Given the description of an element on the screen output the (x, y) to click on. 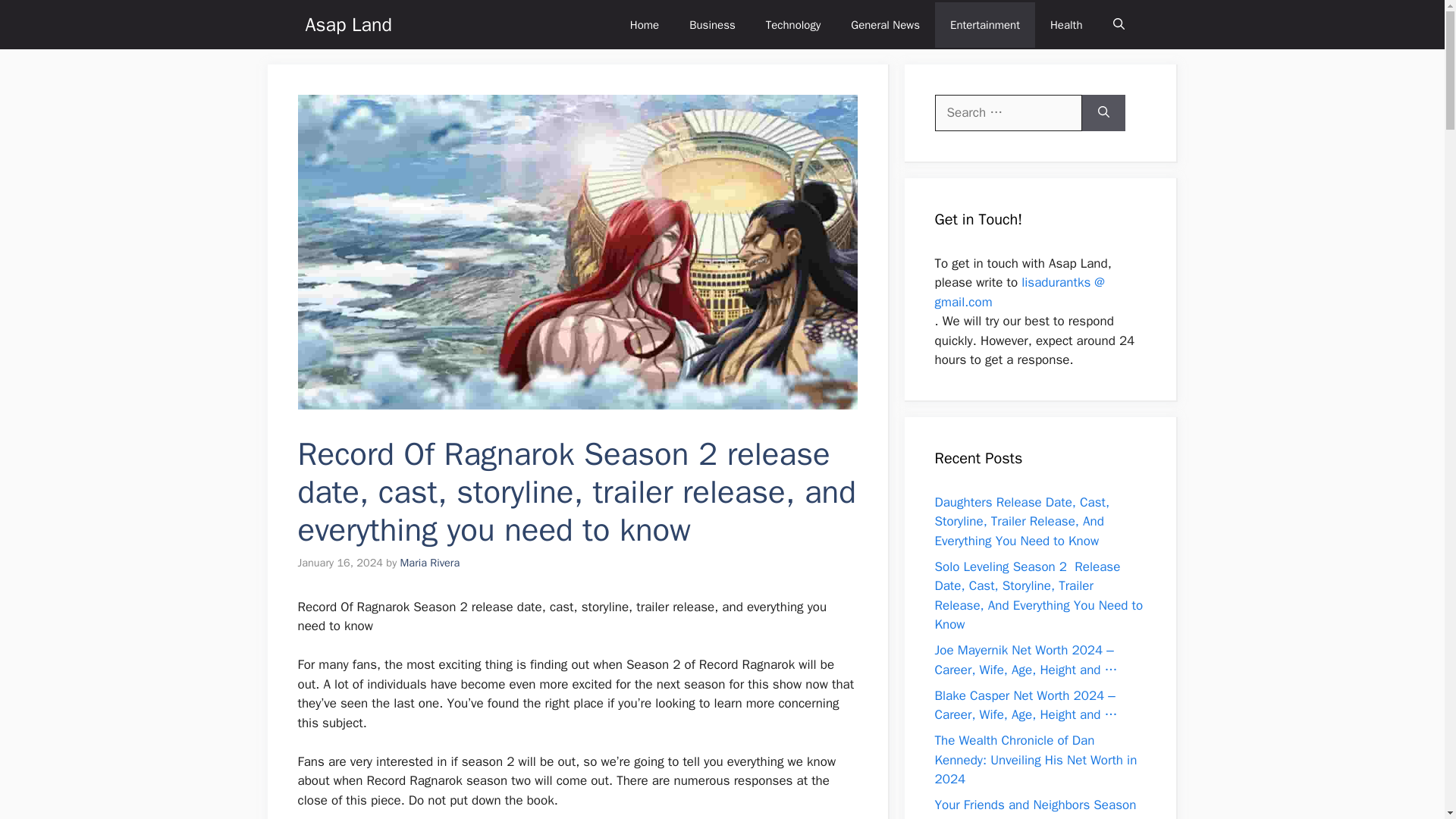
General News (884, 23)
Home (644, 23)
Asap Land (347, 24)
Technology (793, 23)
View all posts by Maria Rivera (430, 562)
Search for: (1007, 113)
Business (712, 23)
Maria Rivera (430, 562)
Entertainment (984, 23)
Health (1066, 23)
